Given the description of an element on the screen output the (x, y) to click on. 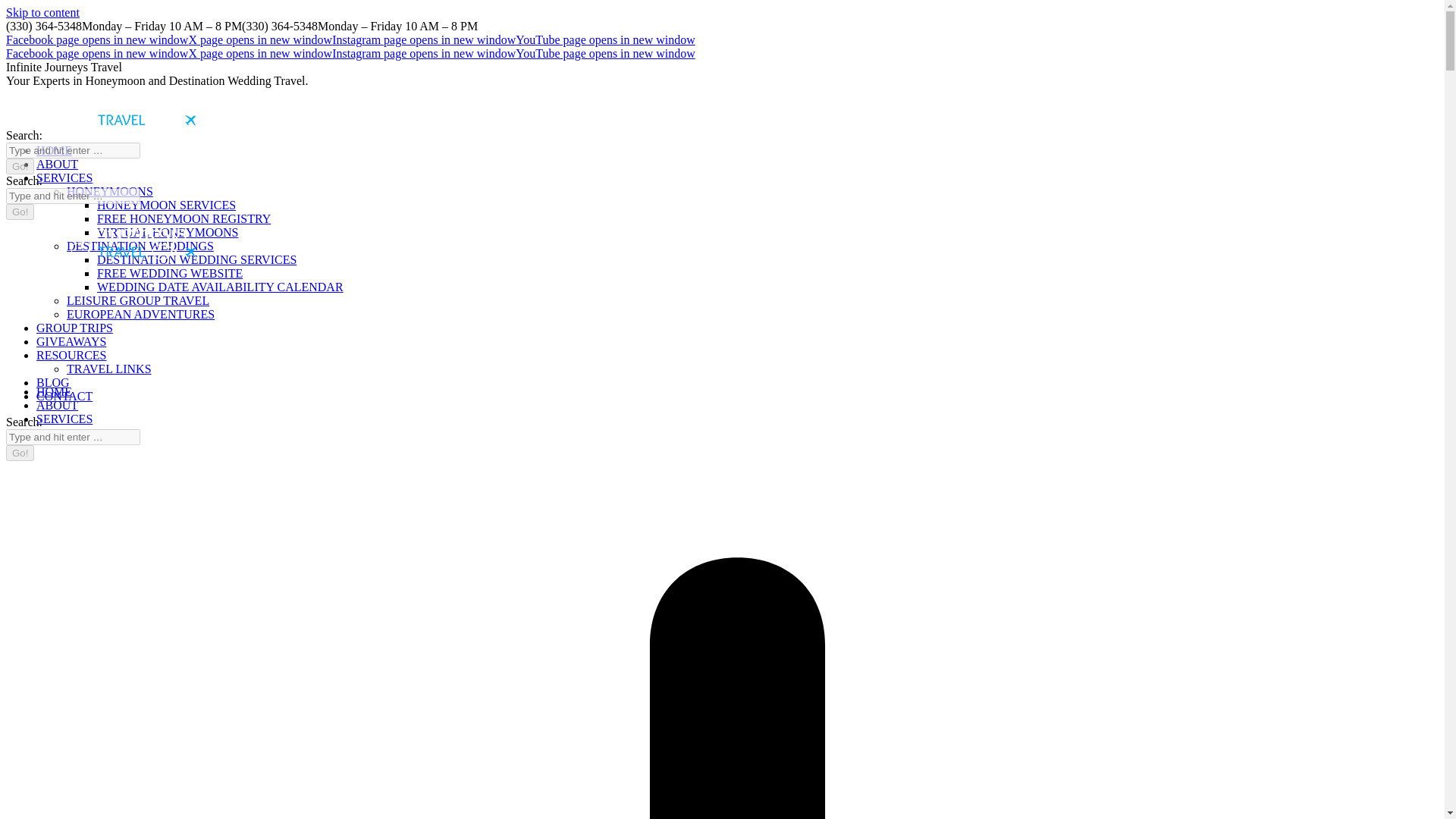
LEISURE GROUP TRAVEL (137, 300)
Facebook page opens in new window (96, 39)
YouTube page opens in new window (604, 52)
Facebook page opens in new window (96, 39)
DESTINATION WEDDINGS (140, 245)
Skip to content (42, 11)
Go! (19, 453)
YouTube page opens in new window (604, 52)
CONTACT (64, 395)
Go! (19, 166)
GROUP TRIPS (74, 327)
WEDDING DATE AVAILABILITY CALENDAR (220, 286)
HOME (53, 150)
Search form (72, 195)
Go! (19, 453)
